Given the description of an element on the screen output the (x, y) to click on. 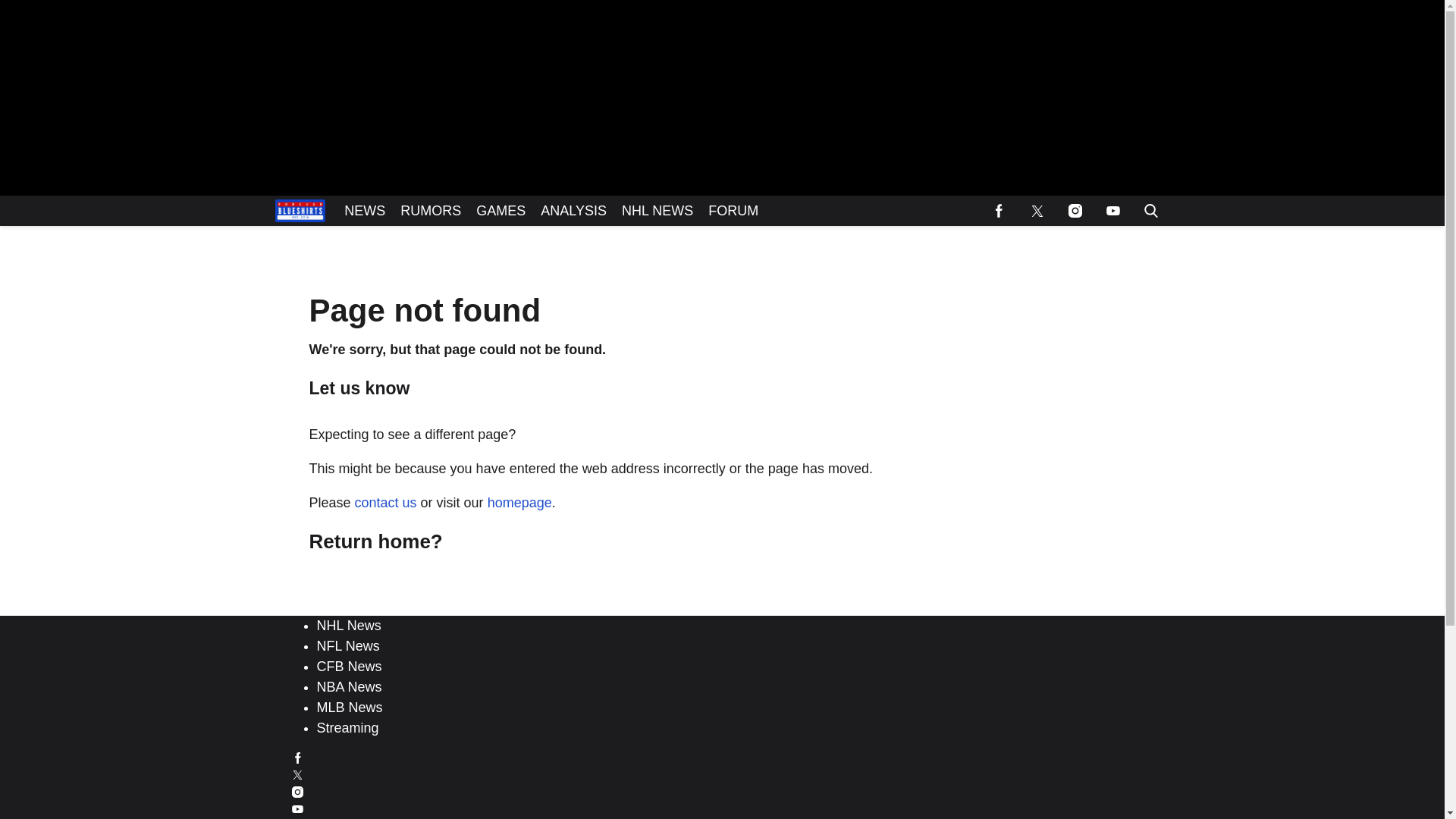
MLB News (349, 706)
Follow us on Instagram (722, 790)
NHL News (349, 624)
CFB News (349, 665)
GAMES (500, 210)
NBA News (349, 686)
homepage (519, 501)
contact us (385, 501)
Follow us on Instagram (1074, 210)
Follow us on Facebook (722, 757)
